Given the description of an element on the screen output the (x, y) to click on. 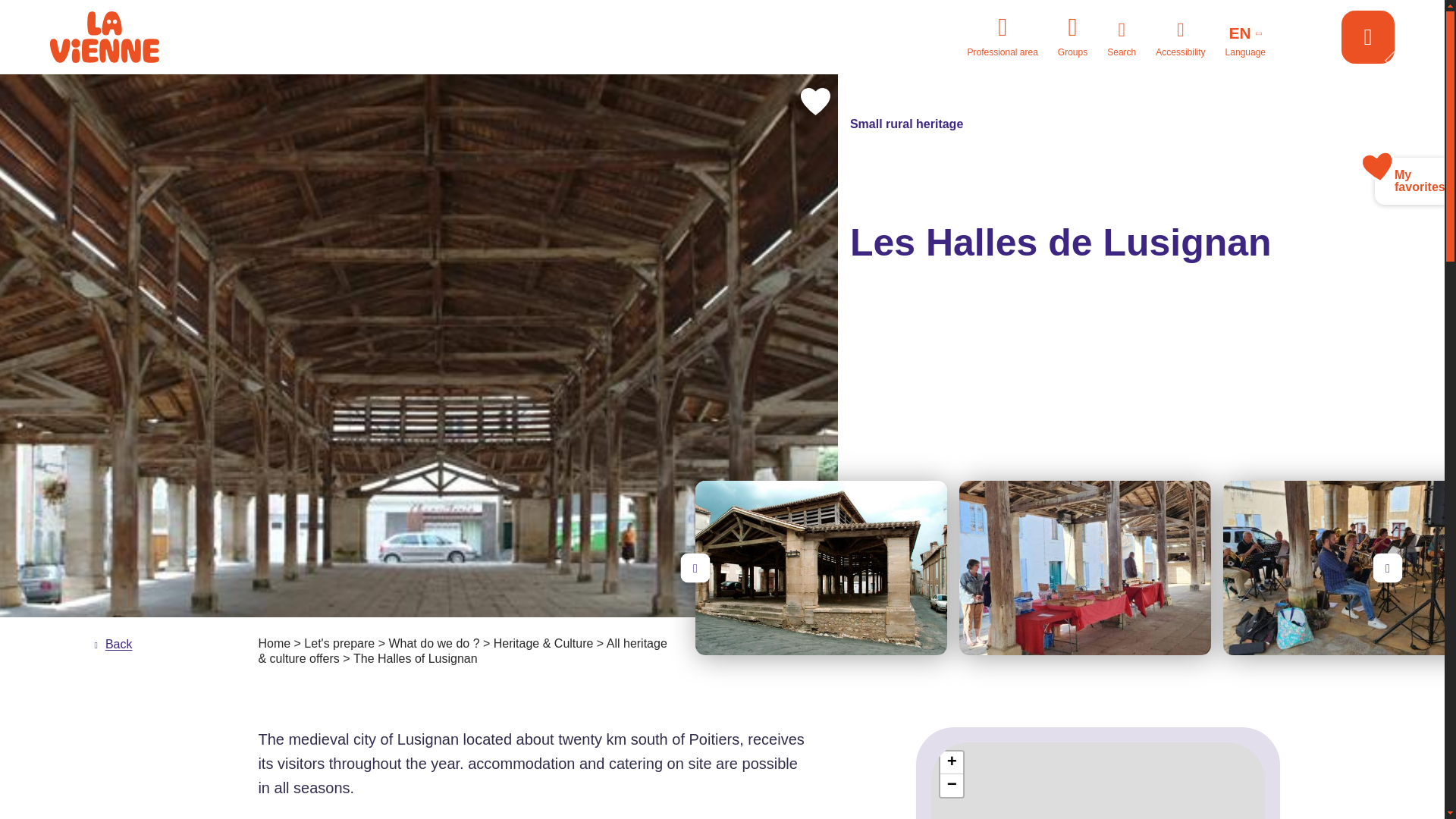
Groups (1072, 36)
Zoom in (951, 762)
Professional area (1001, 36)
Zoom out (951, 784)
Tourism Vienne La Vienne, country of Futuroscope (125, 37)
